Given the description of an element on the screen output the (x, y) to click on. 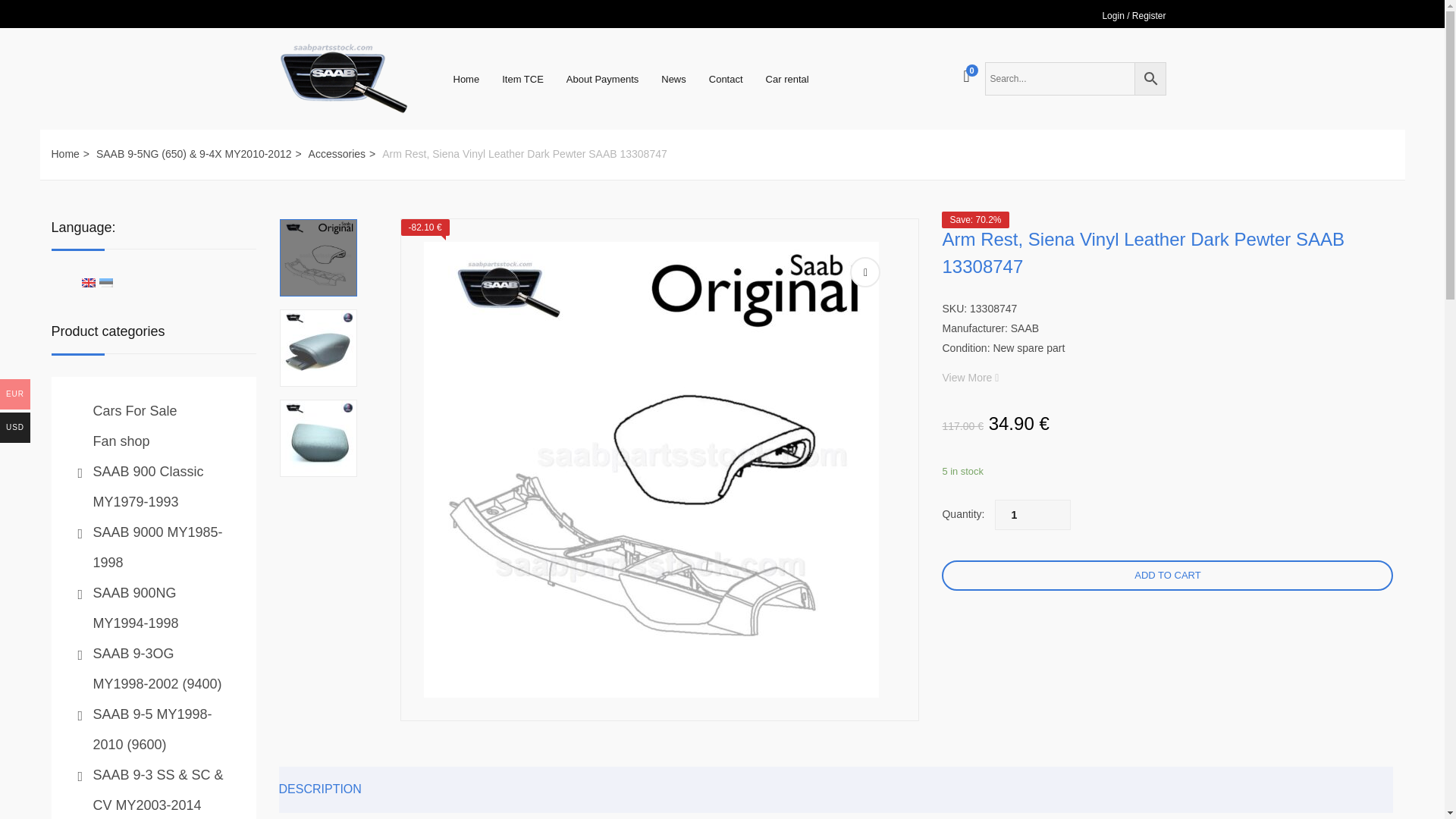
Fan shop (121, 441)
Register (1149, 15)
Item TCE (522, 79)
News (673, 79)
Cars For Sale (134, 410)
0 (965, 77)
About Payments (602, 79)
Register (1149, 15)
Contact (725, 79)
Car rental (787, 79)
